Given the description of an element on the screen output the (x, y) to click on. 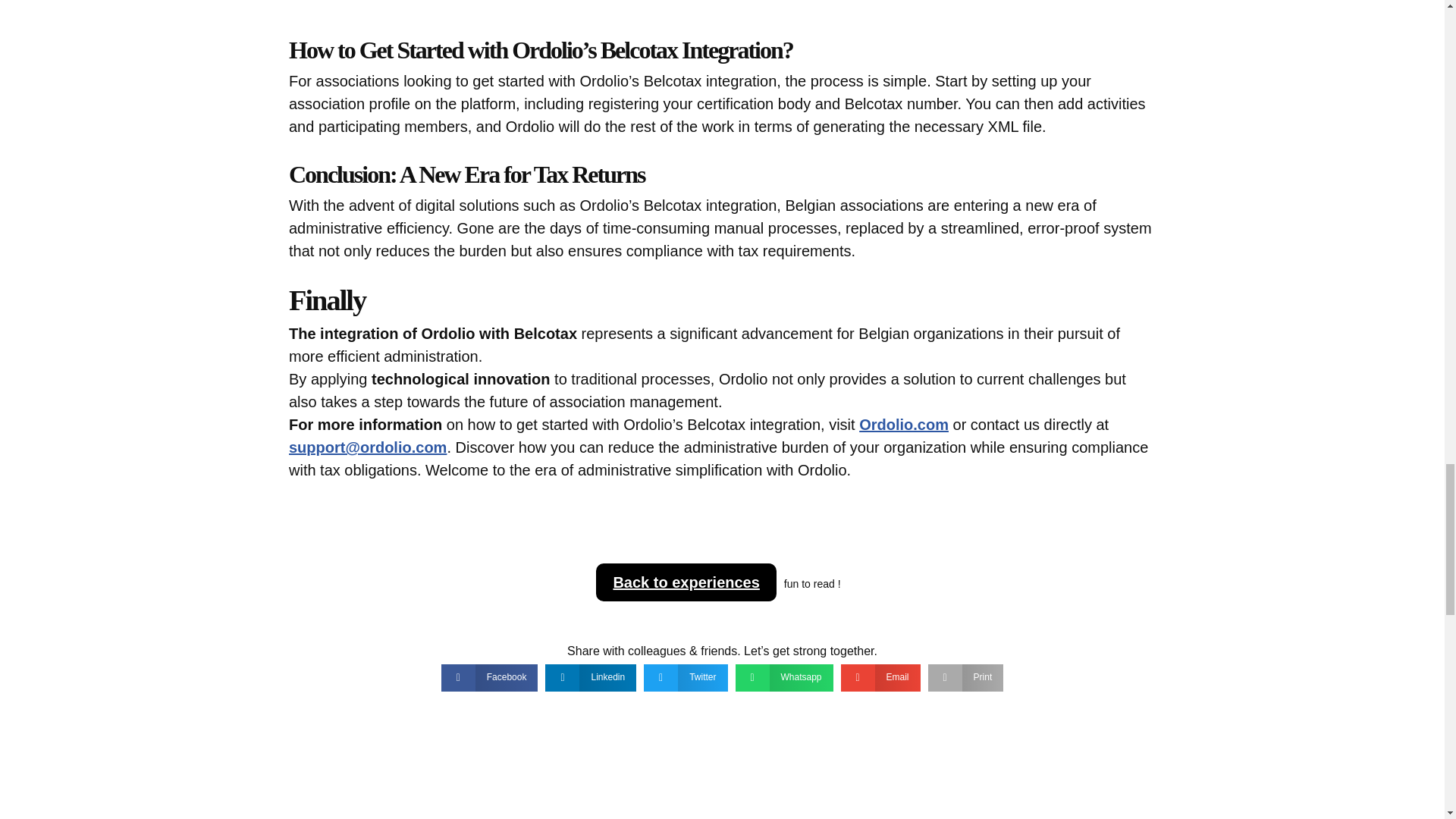
Back to experiences (685, 582)
Ordolio.com (904, 424)
